Given the description of an element on the screen output the (x, y) to click on. 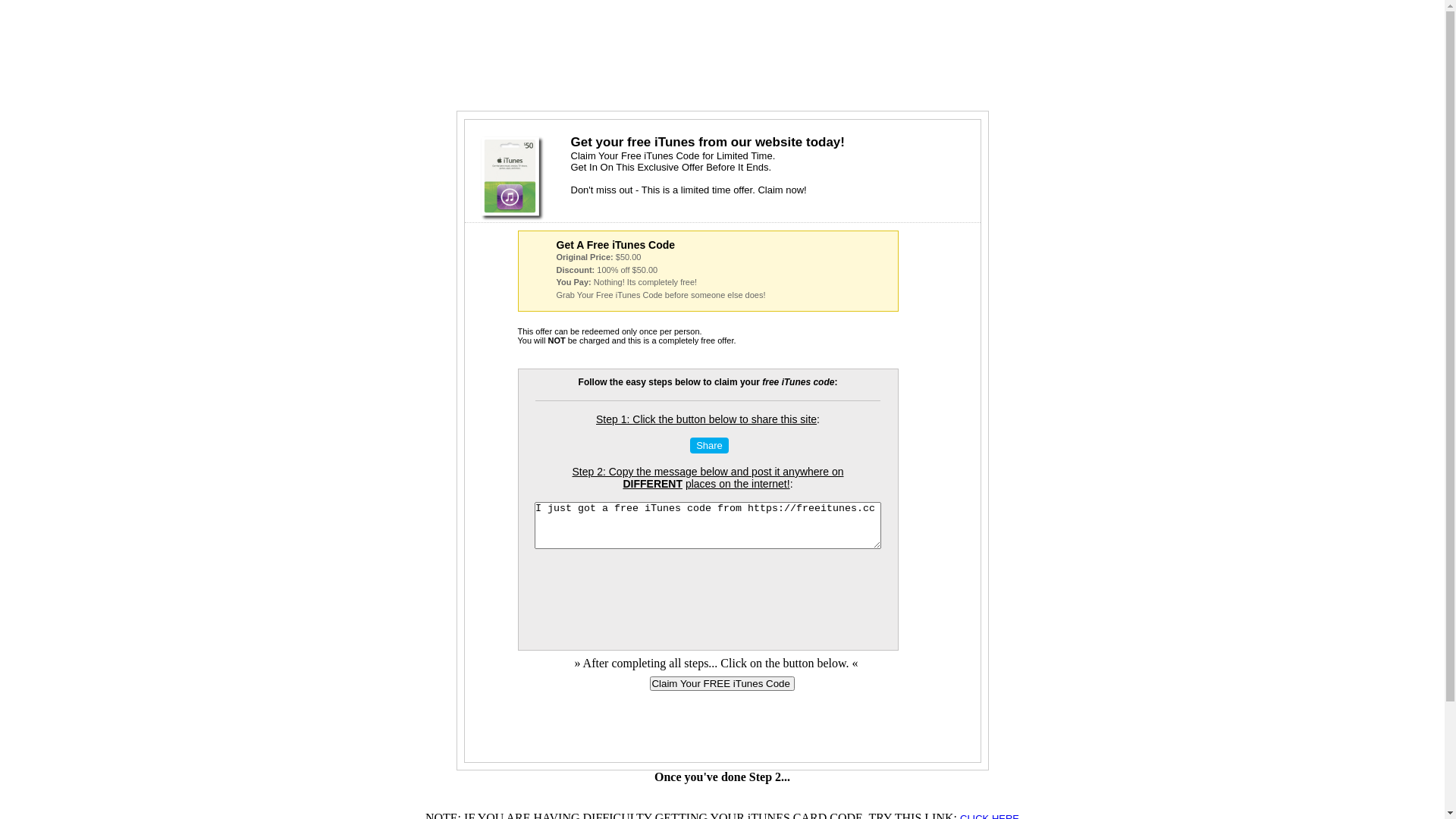
Share Element type: text (709, 445)
I just got a free iTunes code from https://freeitunes.cc Element type: text (707, 525)
Free iTunes Element type: hover (511, 178)
Claim Your FREE iTunes Code  Element type: text (721, 683)
